Given the description of an element on the screen output the (x, y) to click on. 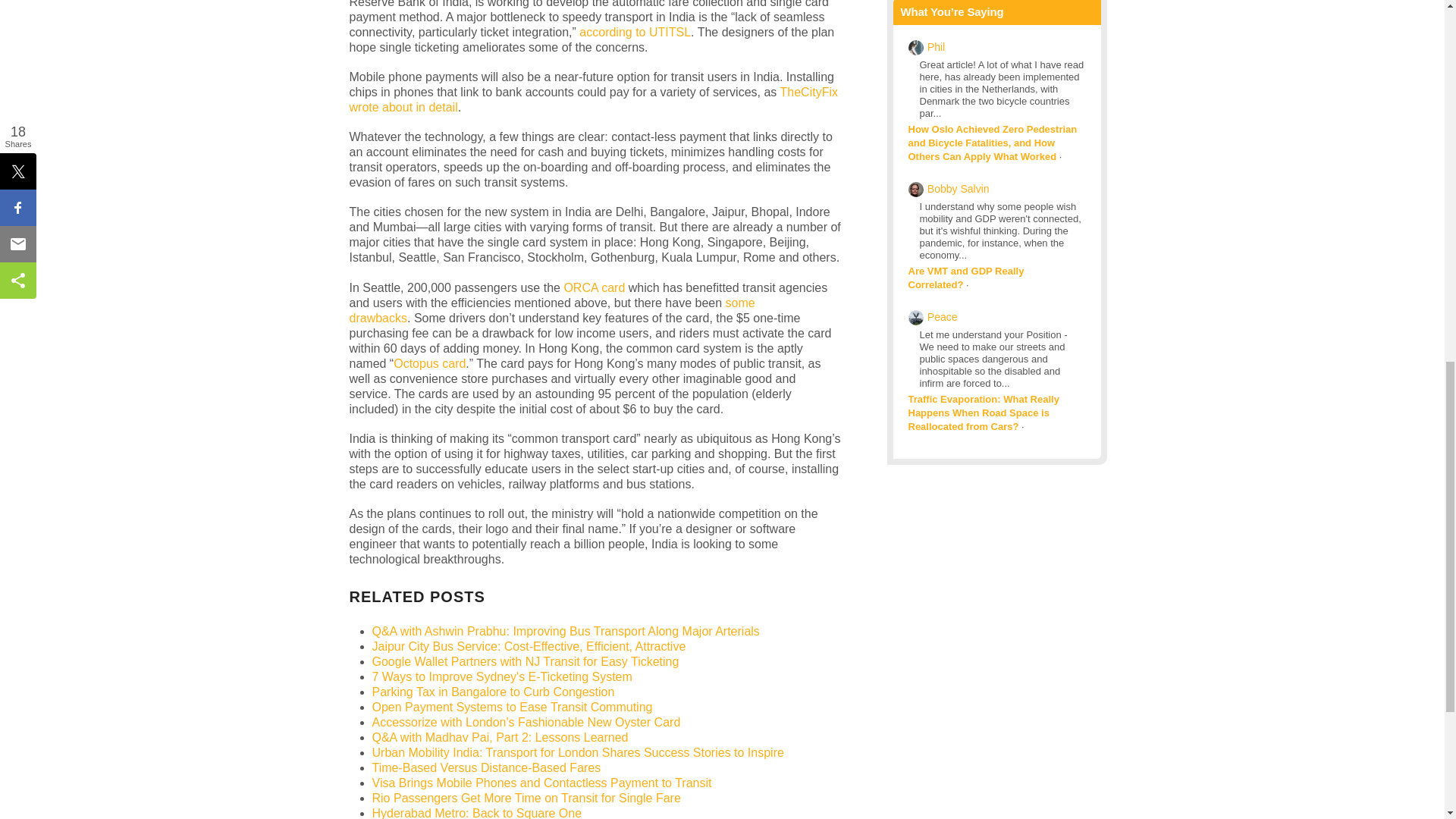
Phil (935, 47)
Are VMT and GDP Really Correlated? (966, 277)
Bobby Salvin (958, 188)
